Given the description of an element on the screen output the (x, y) to click on. 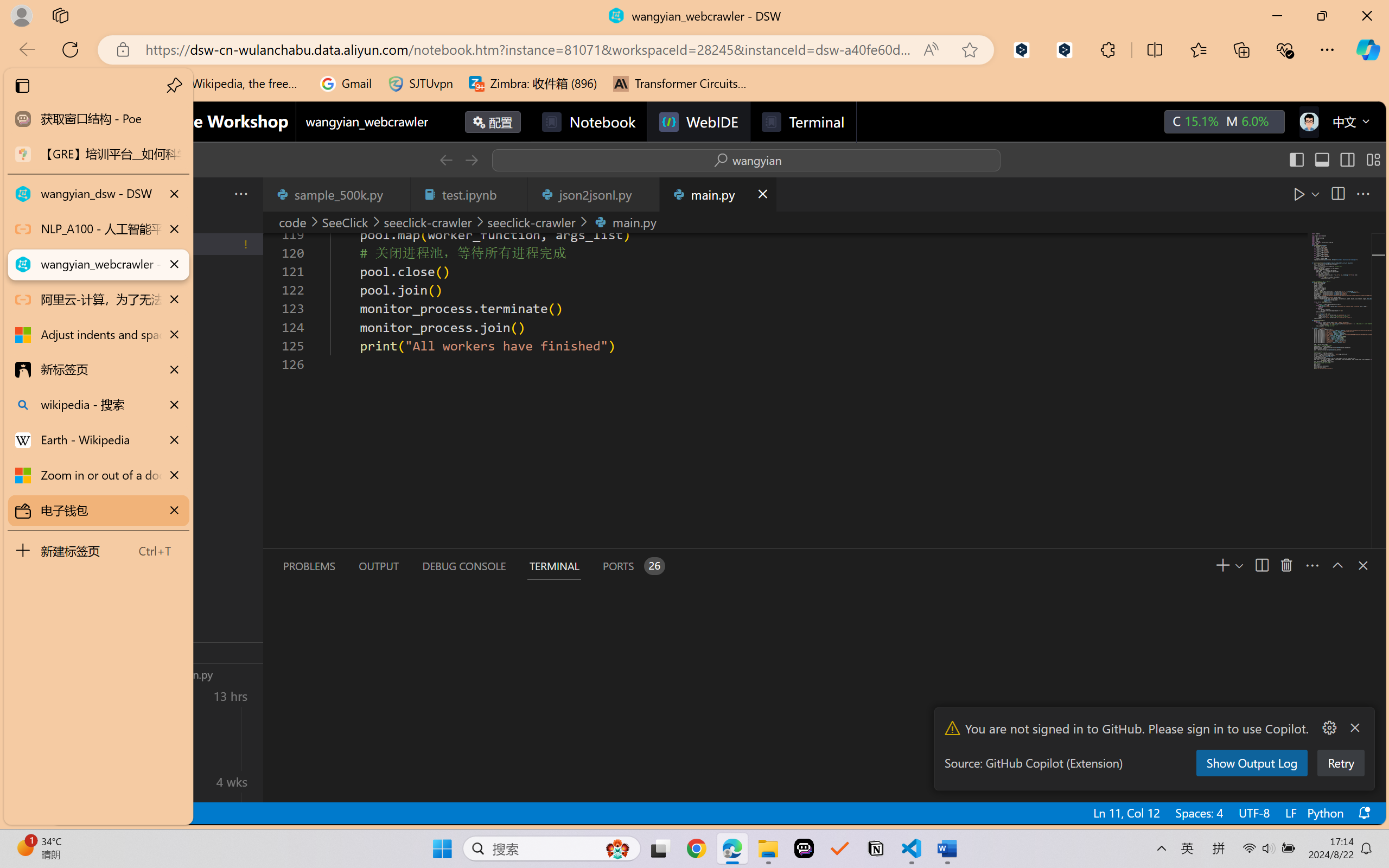
Launch Profile... (1238, 565)
icon (1308, 119)
Class: actions-container (1351, 565)
Output (Ctrl+Shift+U) (377, 565)
wangyian_webcrawler - DSW (97, 264)
Go Forward (Alt+RightArrow) (470, 159)
Clear Notification (Delete) (1354, 727)
